Given the description of an element on the screen output the (x, y) to click on. 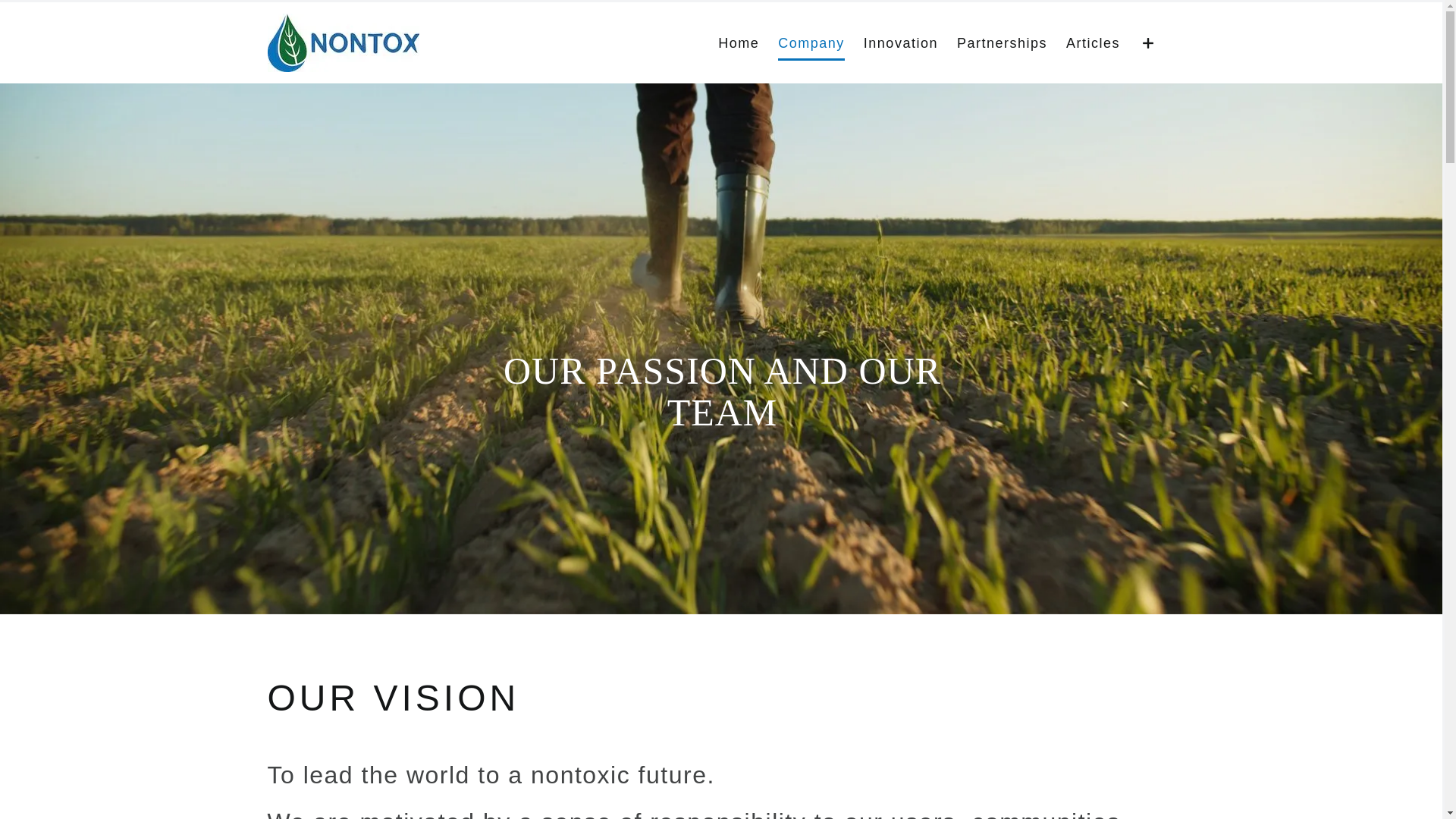
Home Element type: text (738, 42)
Toggle Sliding Bar Element type: hover (1148, 42)
Articles Element type: text (1093, 42)
Partnerships Element type: text (1002, 42)
Company Element type: text (811, 42)
Innovation Element type: text (900, 42)
